Given the description of an element on the screen output the (x, y) to click on. 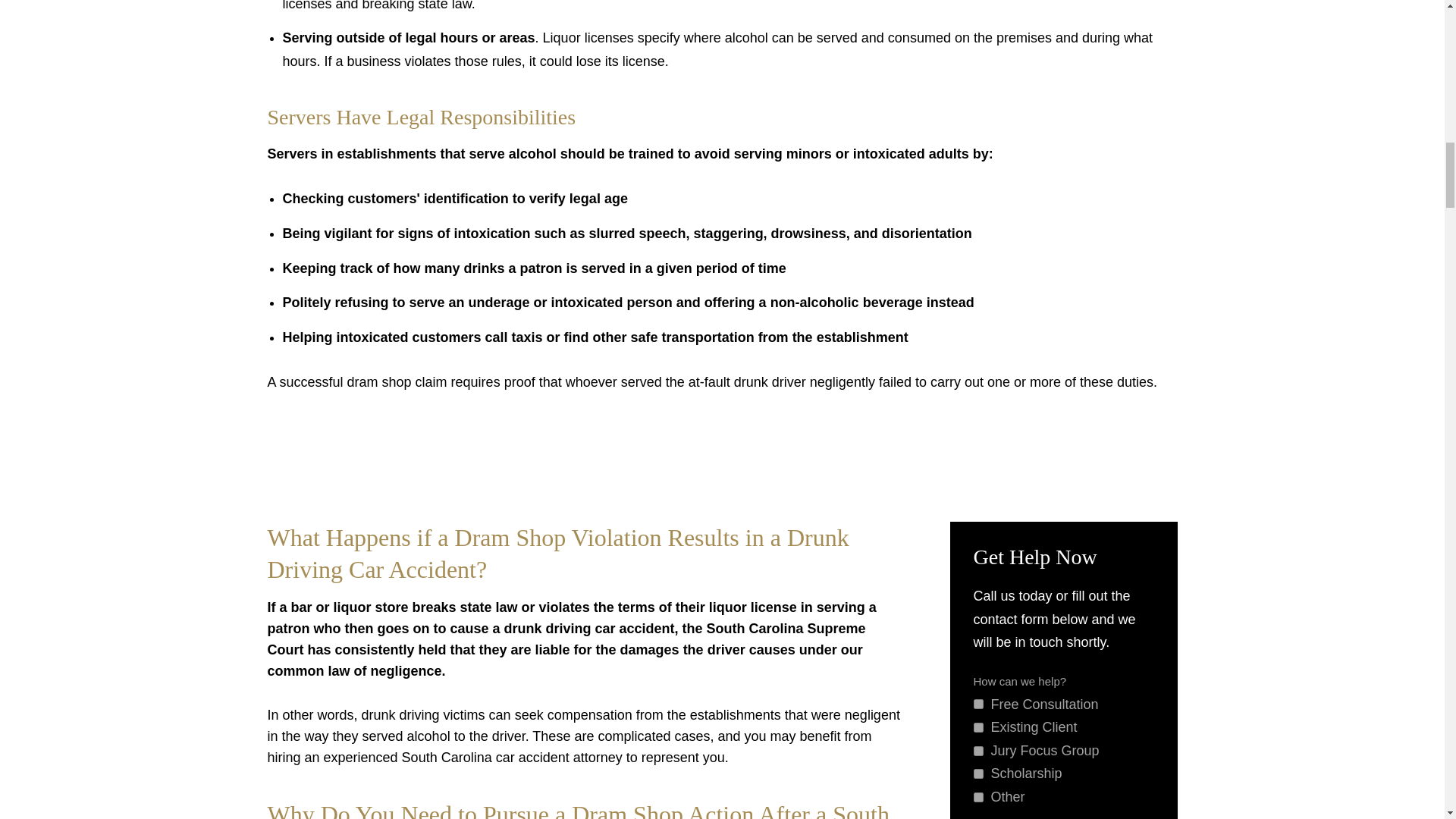
Free Consultation (979, 704)
Scholarship (979, 773)
Existing Client (979, 727)
Jury Focus Group (979, 750)
Other (979, 797)
